Given the description of an element on the screen output the (x, y) to click on. 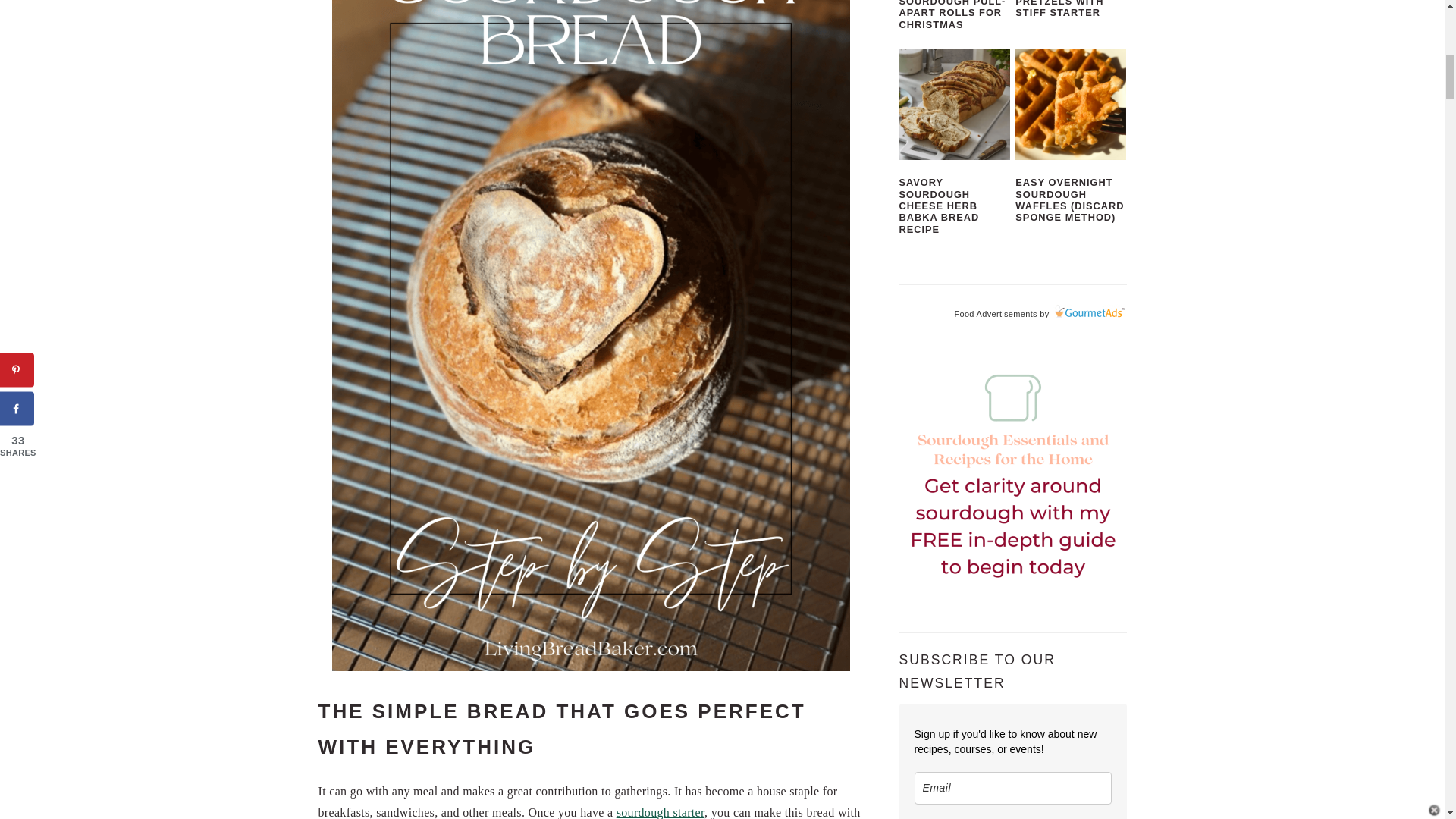
Food Advertisements (994, 313)
sourdough starter (659, 812)
Savory Sourdough Cheese Herb Babka Bread Recipe (954, 104)
